Given the description of an element on the screen output the (x, y) to click on. 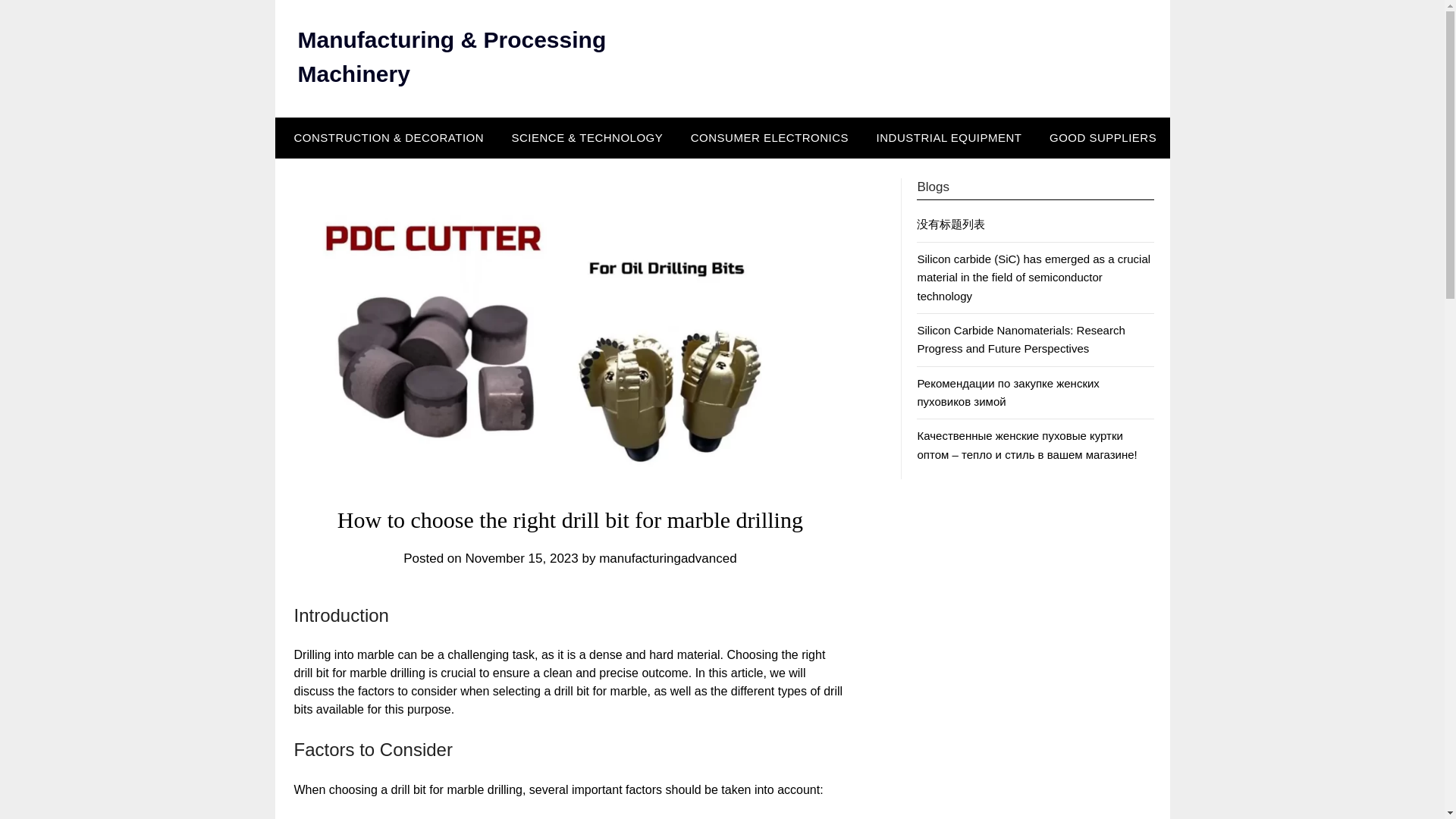
CONSUMER ELECTRONICS (769, 137)
INDUSTRIAL EQUIPMENT (948, 137)
manufacturingadvanced (667, 558)
November 15, 2023 (521, 558)
GOOD SUPPLIERS (1102, 137)
